Given the description of an element on the screen output the (x, y) to click on. 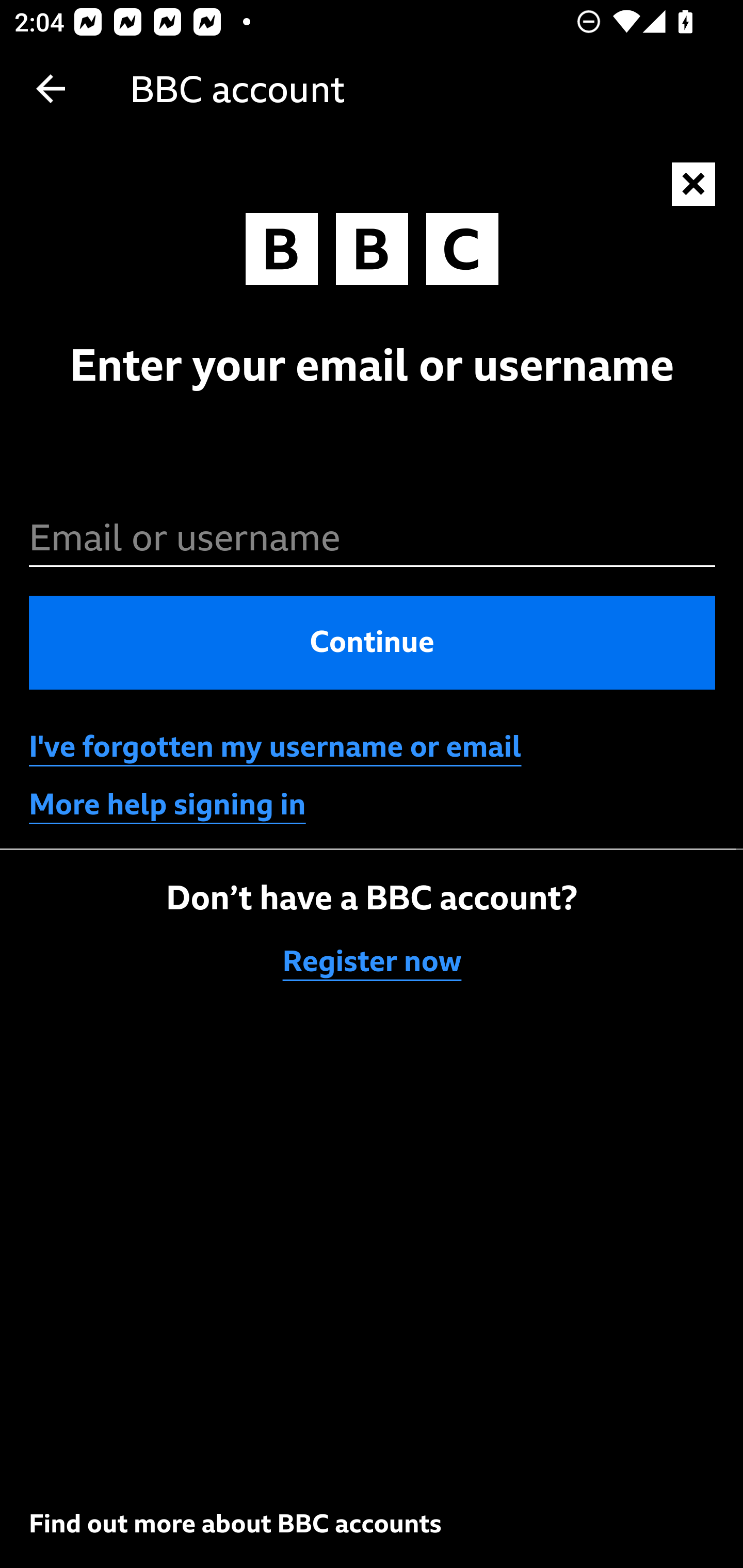
Close and return to where you originally came from (694, 184)
Go to the BBC Homepage (371, 253)
Continue (372, 641)
I've forgotten my username or email (274, 747)
More help signing in (167, 805)
Register now (372, 960)
Find out more about BBC accounts (235, 1522)
